Given the description of an element on the screen output the (x, y) to click on. 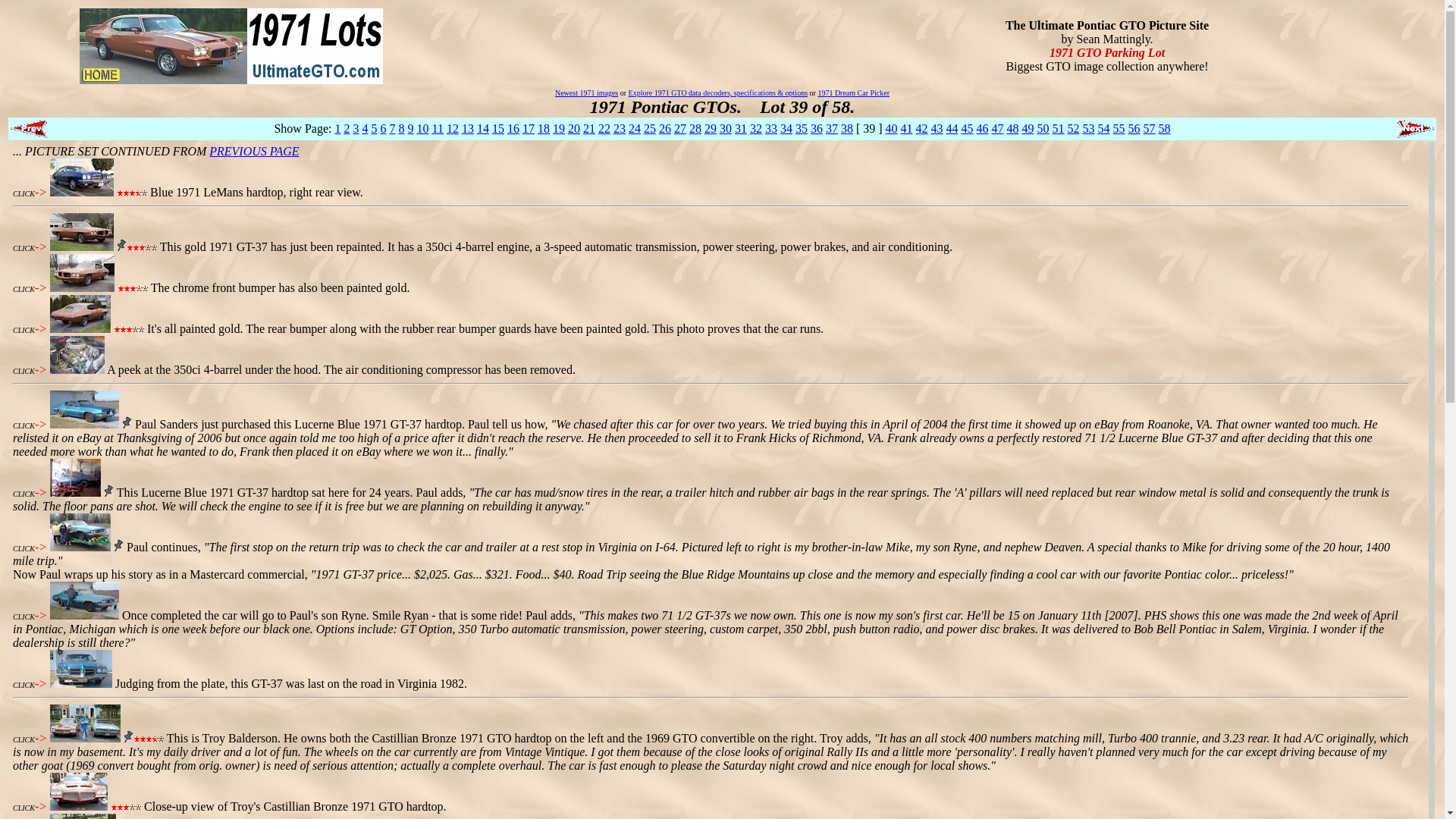
18 (543, 128)
20 (573, 128)
29 (710, 128)
13 (467, 128)
31 (740, 128)
22 (604, 128)
Newest 1971 images (585, 92)
24 (634, 128)
15 (497, 128)
35 (801, 128)
25 (649, 128)
30 (725, 128)
17 (528, 128)
27 (679, 128)
1971 Dream Car Picker (852, 92)
